Given the description of an element on the screen output the (x, y) to click on. 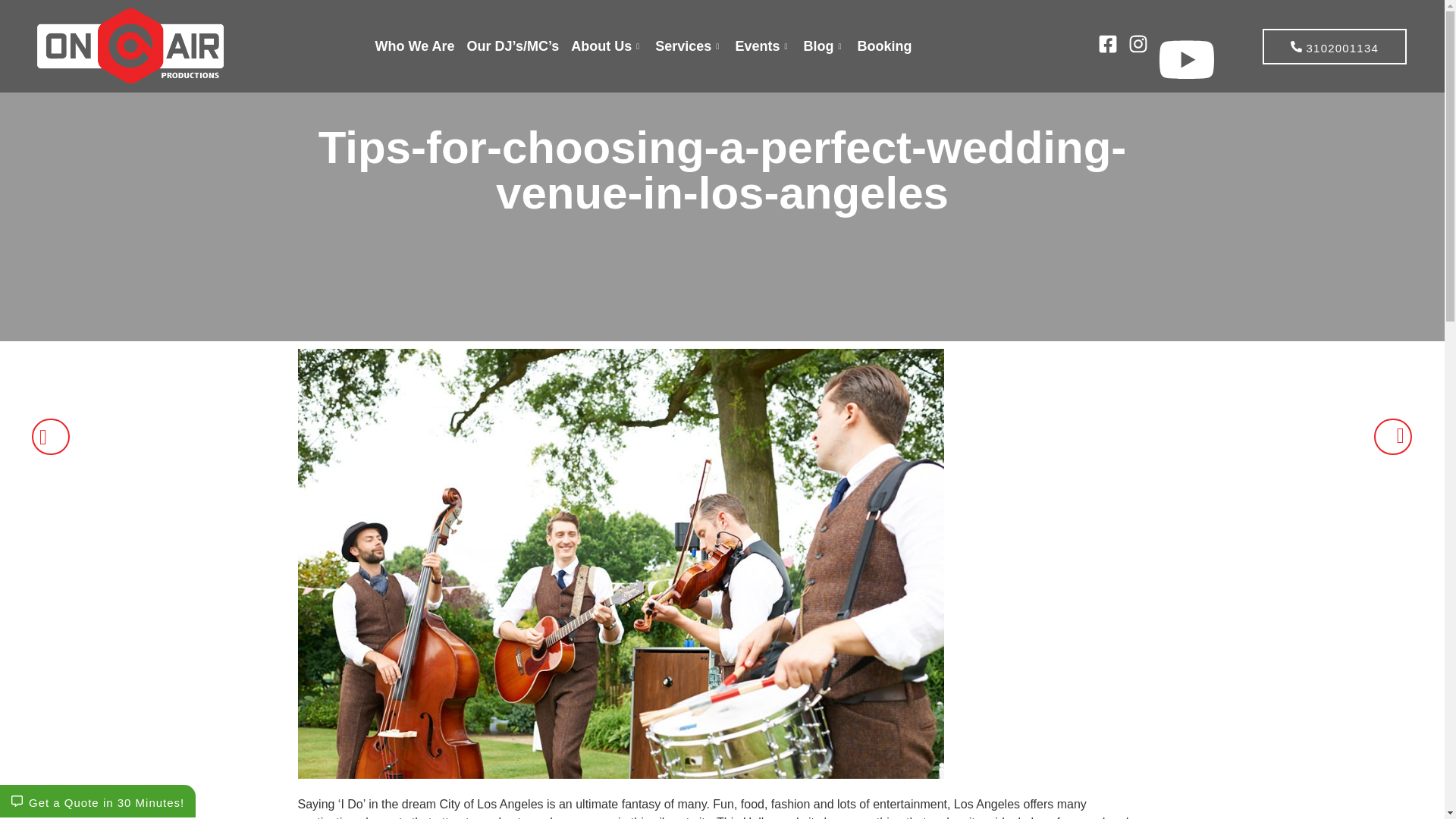
About Us (606, 45)
Who We Are (415, 45)
Services (689, 45)
Events (762, 45)
